Given the description of an element on the screen output the (x, y) to click on. 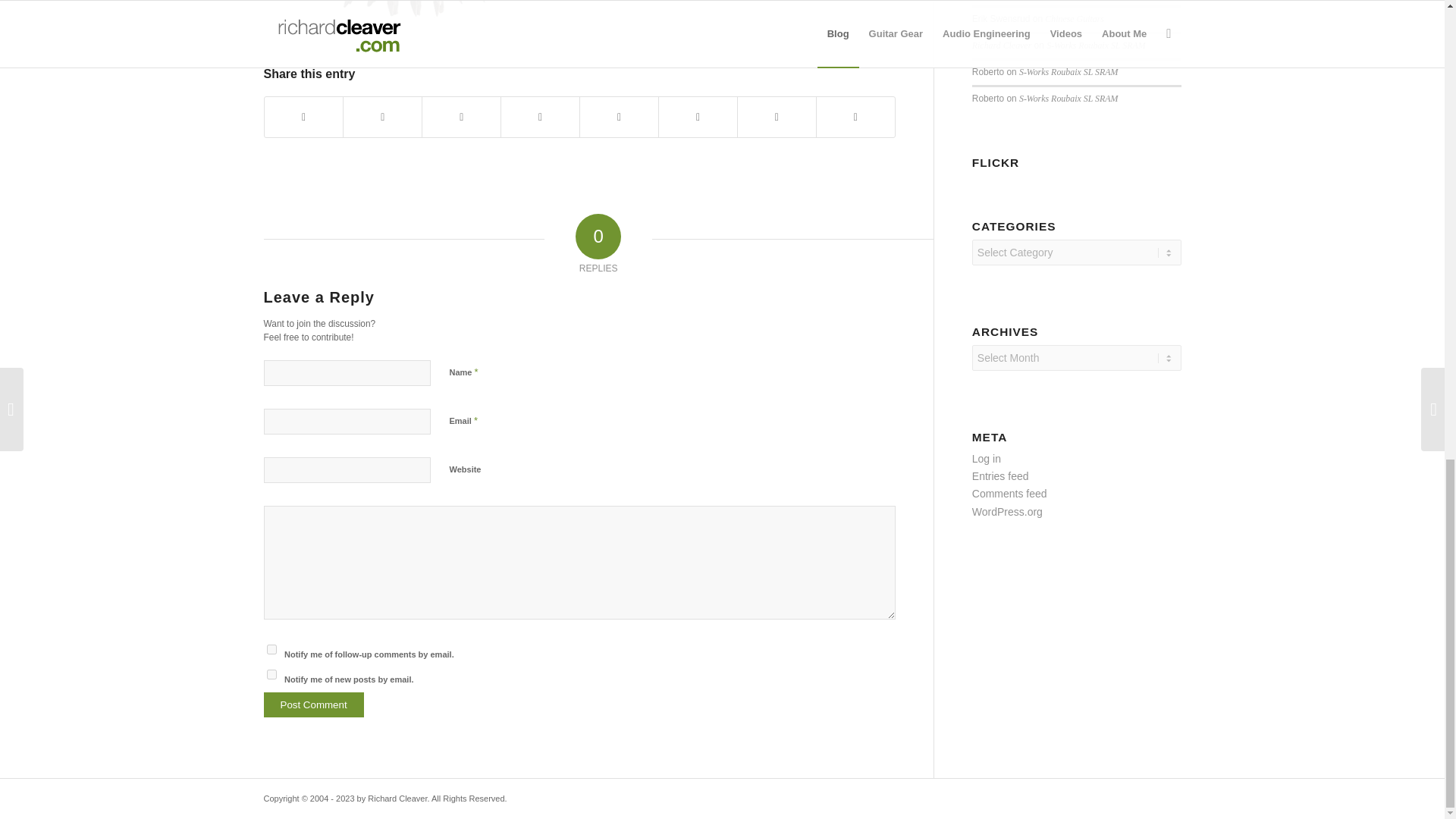
Chinese Guitars (1074, 13)
S-Works Roubaix SL SRAM (1095, 40)
spikes (415, 15)
subscribe (271, 649)
S-Works Roubaix SL SRAM (1068, 66)
Richard Cleaver (1001, 40)
S-Works Roubaix SL SRAM (1068, 92)
subscribe (271, 674)
Post Comment (313, 704)
Post Comment (313, 704)
